Given the description of an element on the screen output the (x, y) to click on. 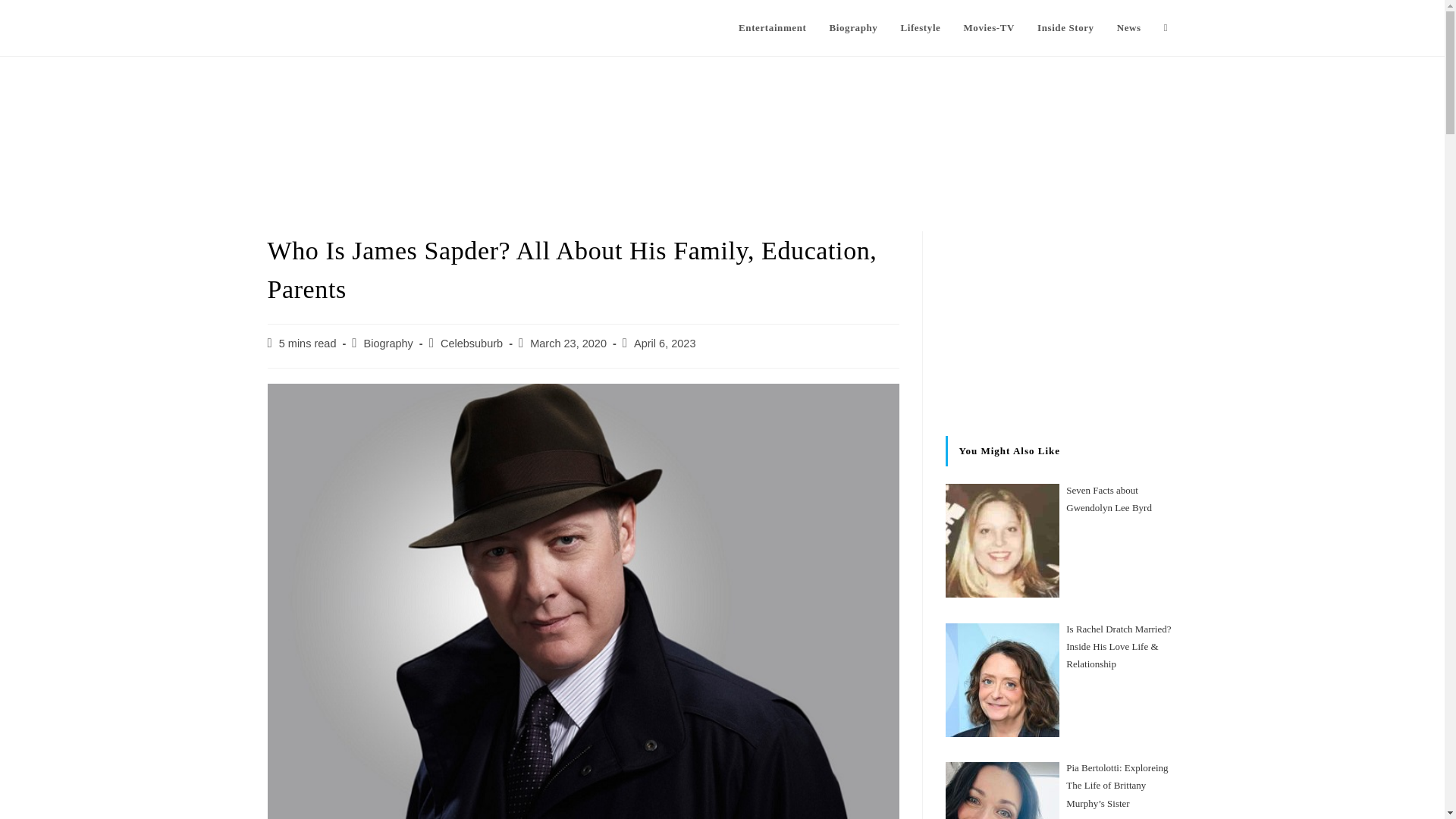
Posts by Celebsuburb (471, 343)
Biography (388, 343)
Inside Story (1065, 28)
Biography (852, 28)
Entertainment (771, 28)
Movies-TV (989, 28)
CelebSuburb (317, 26)
Lifestyle (920, 28)
Celebsuburb (471, 343)
